Given the description of an element on the screen output the (x, y) to click on. 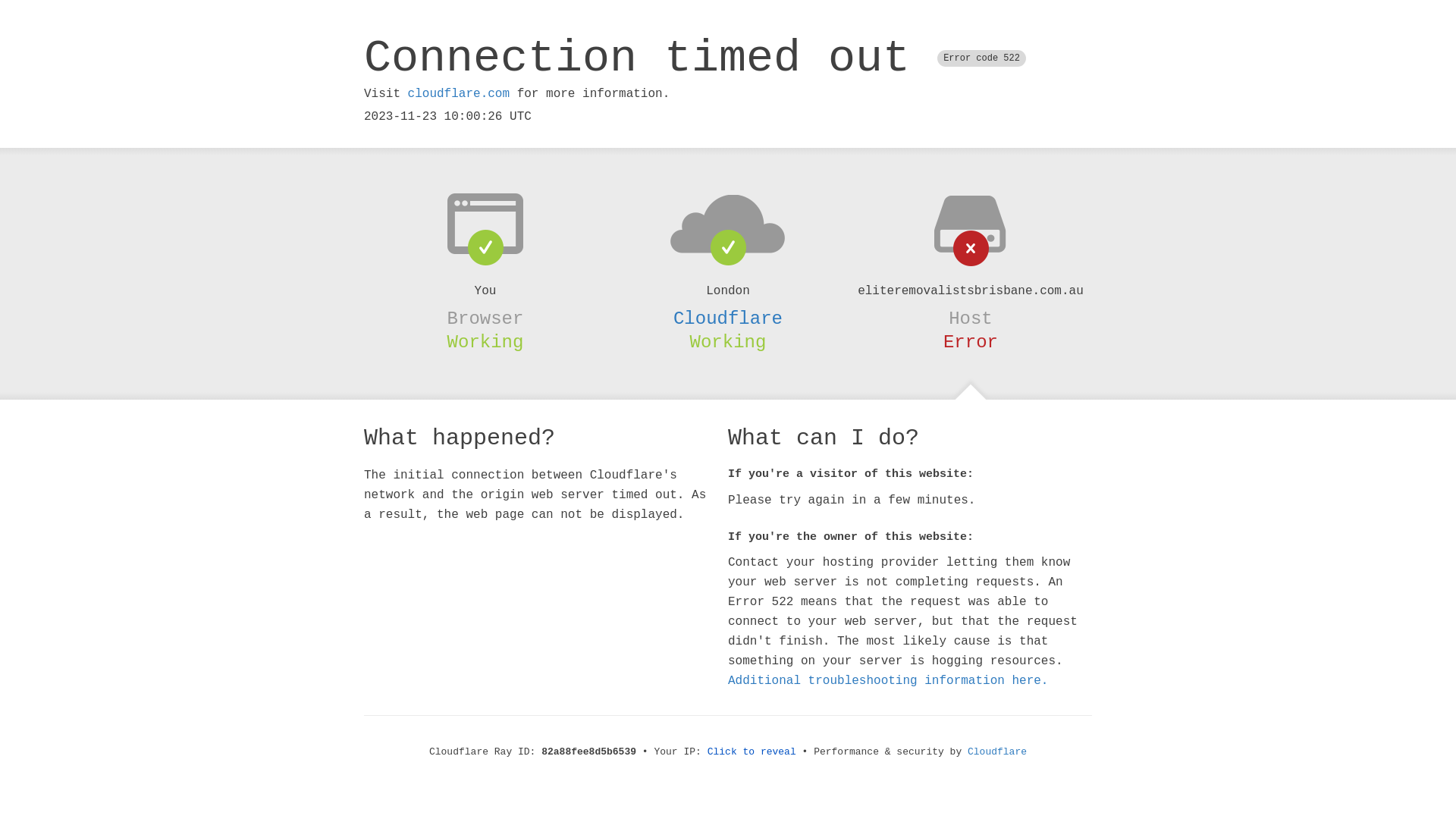
Cloudflare Element type: text (727, 318)
Additional troubleshooting information here. Element type: text (888, 680)
cloudflare.com Element type: text (458, 93)
Click to reveal Element type: text (751, 751)
Cloudflare Element type: text (996, 751)
